Given the description of an element on the screen output the (x, y) to click on. 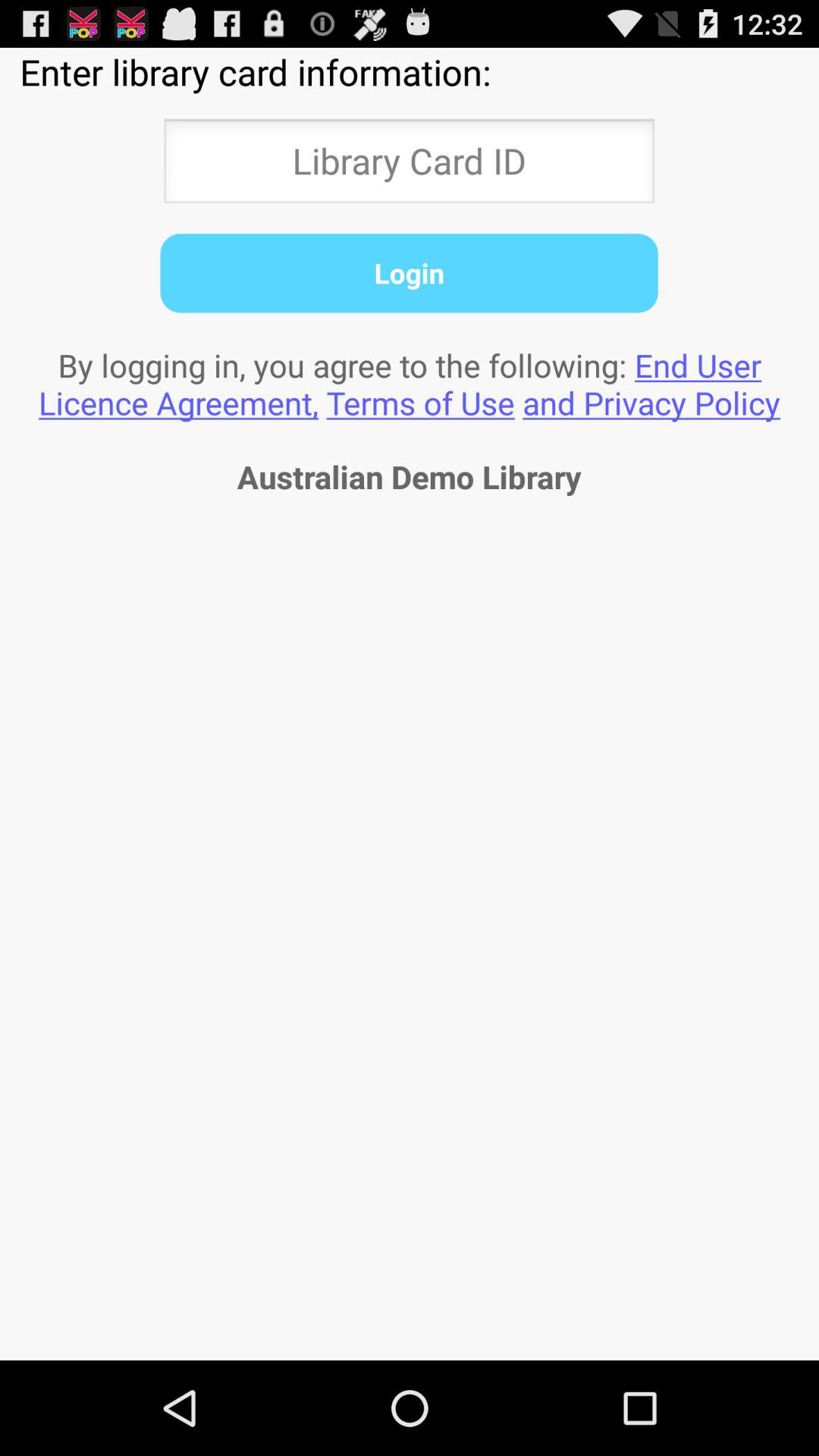
scroll until the login button (409, 272)
